Given the description of an element on the screen output the (x, y) to click on. 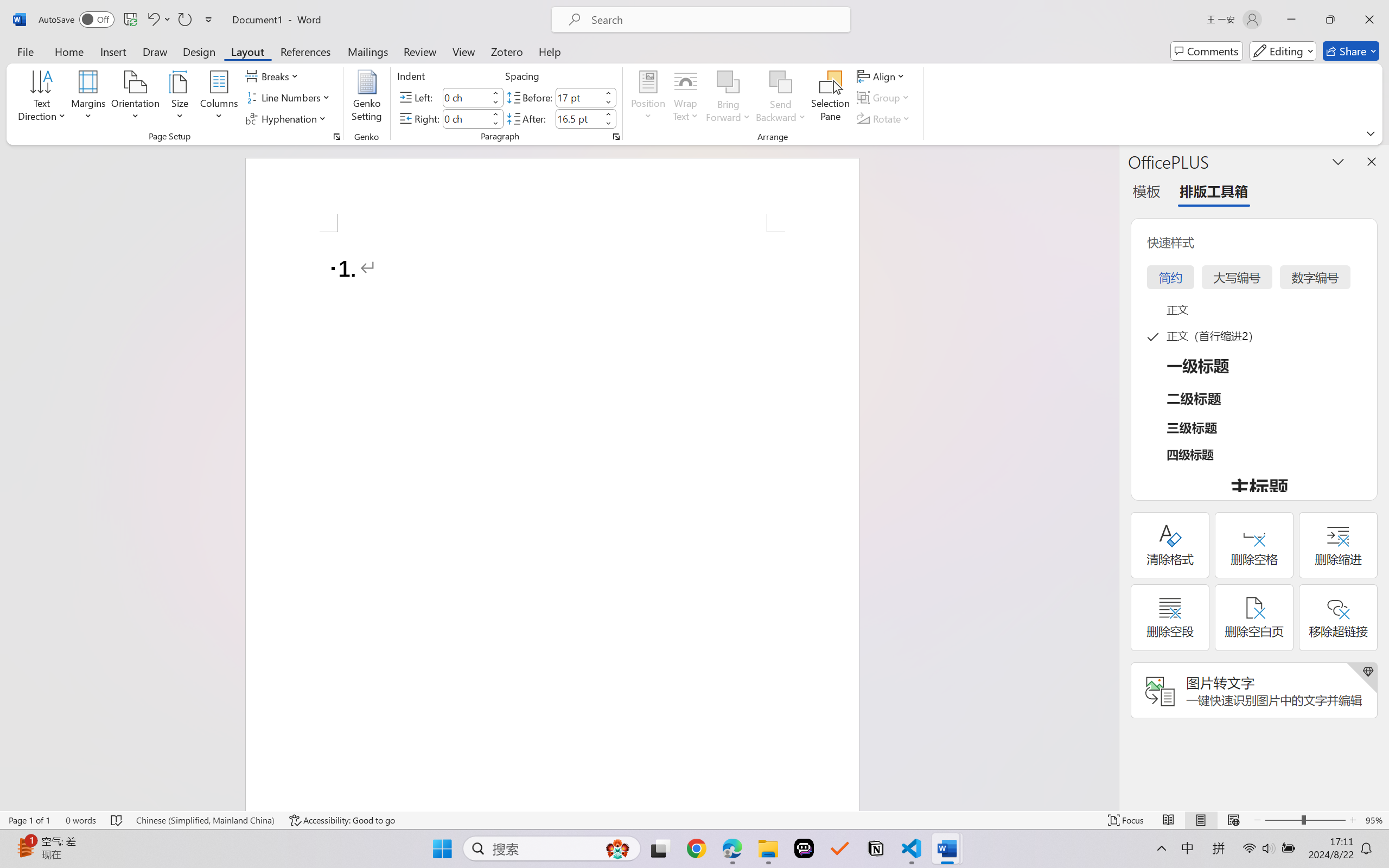
Spacing Before (578, 96)
Page Setup... (336, 136)
